Given the description of an element on the screen output the (x, y) to click on. 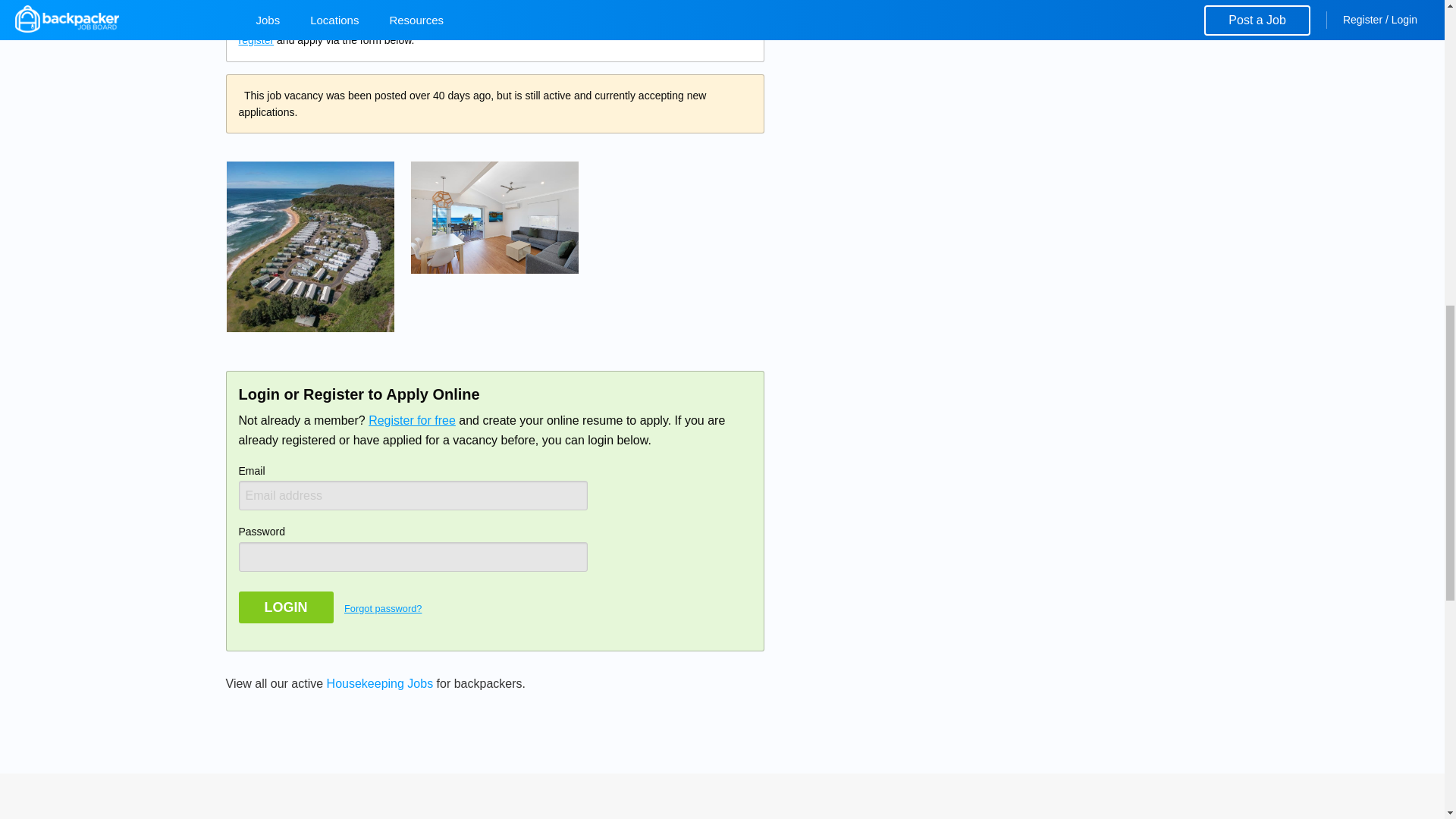
register (255, 39)
LOGIN (285, 607)
Housekeeper (309, 246)
Forgot password? (382, 608)
Housekeeper (494, 216)
students (319, 23)
Housekeeping Jobs (379, 683)
Register for free (411, 420)
